Given the description of an element on the screen output the (x, y) to click on. 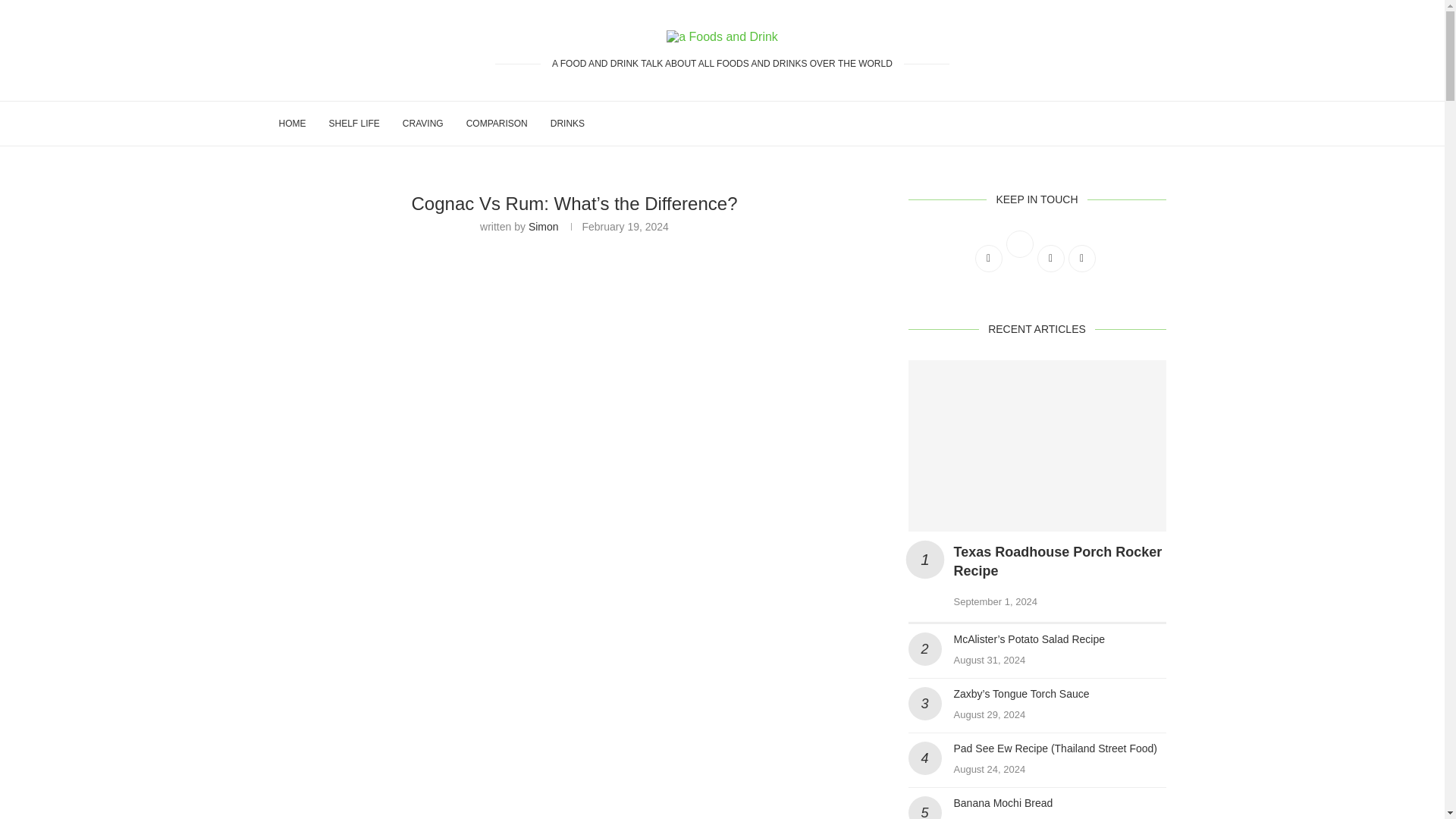
COMPARISON (496, 123)
Simon (543, 226)
SHELF LIFE (354, 123)
CRAVING (423, 123)
